Given the description of an element on the screen output the (x, y) to click on. 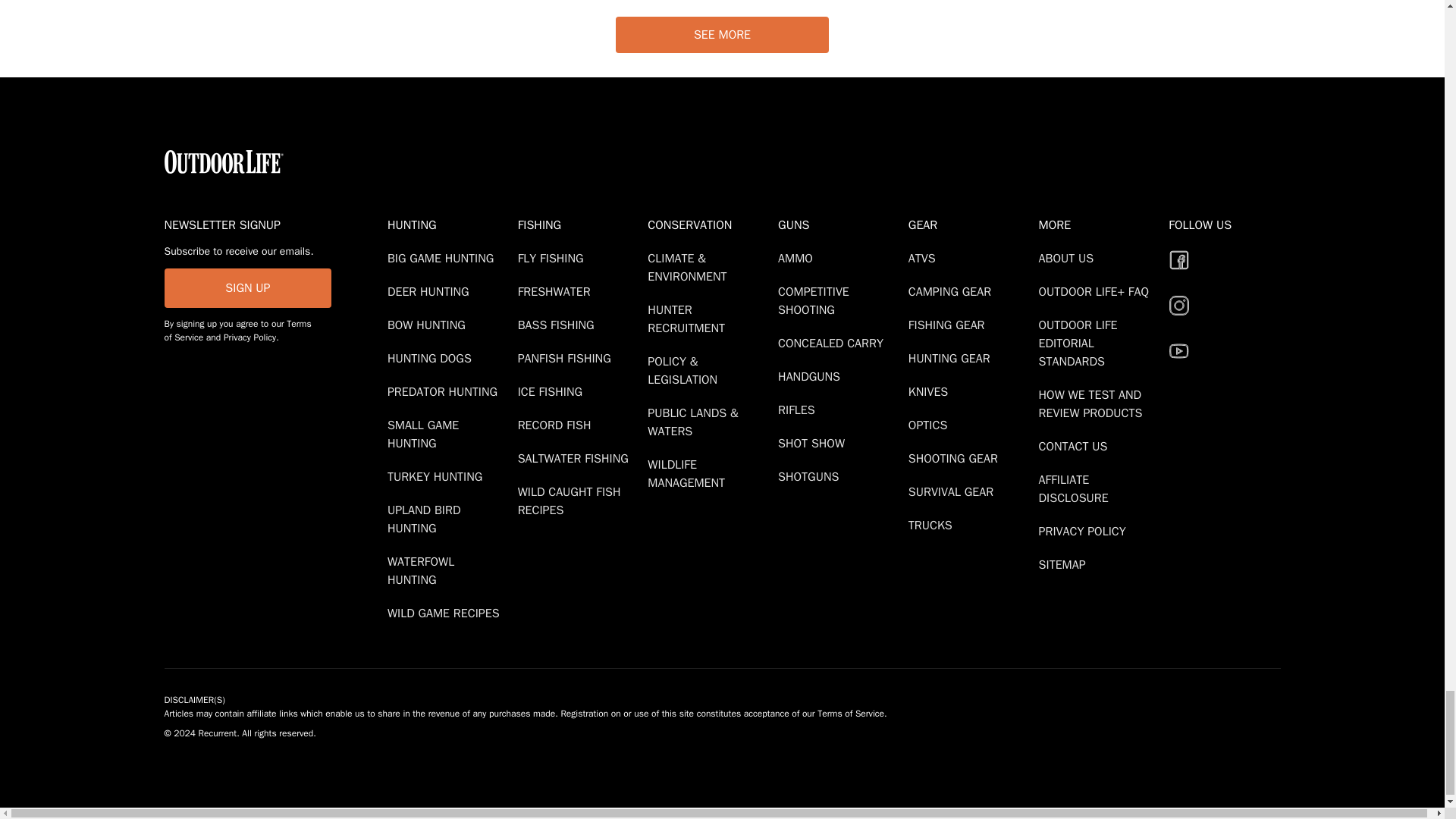
Big Game Hunting (443, 258)
Conservation (709, 225)
Deer Hunting (431, 291)
Hunting (449, 225)
Fly Fishing (553, 258)
Fishing (580, 225)
